Given the description of an element on the screen output the (x, y) to click on. 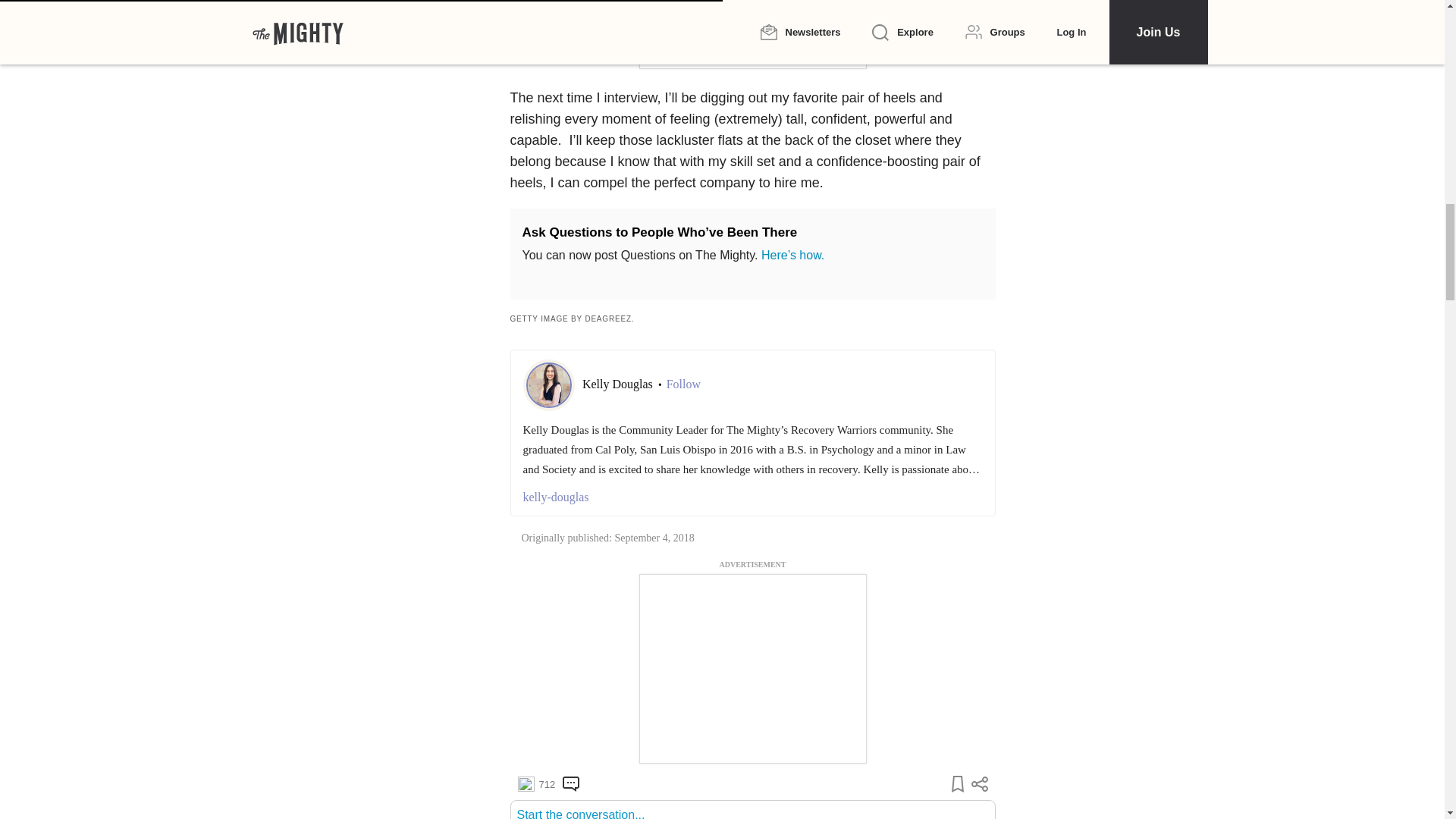
Follow (683, 611)
Kelly Douglas (619, 610)
kelly-douglas (752, 723)
